Given the description of an element on the screen output the (x, y) to click on. 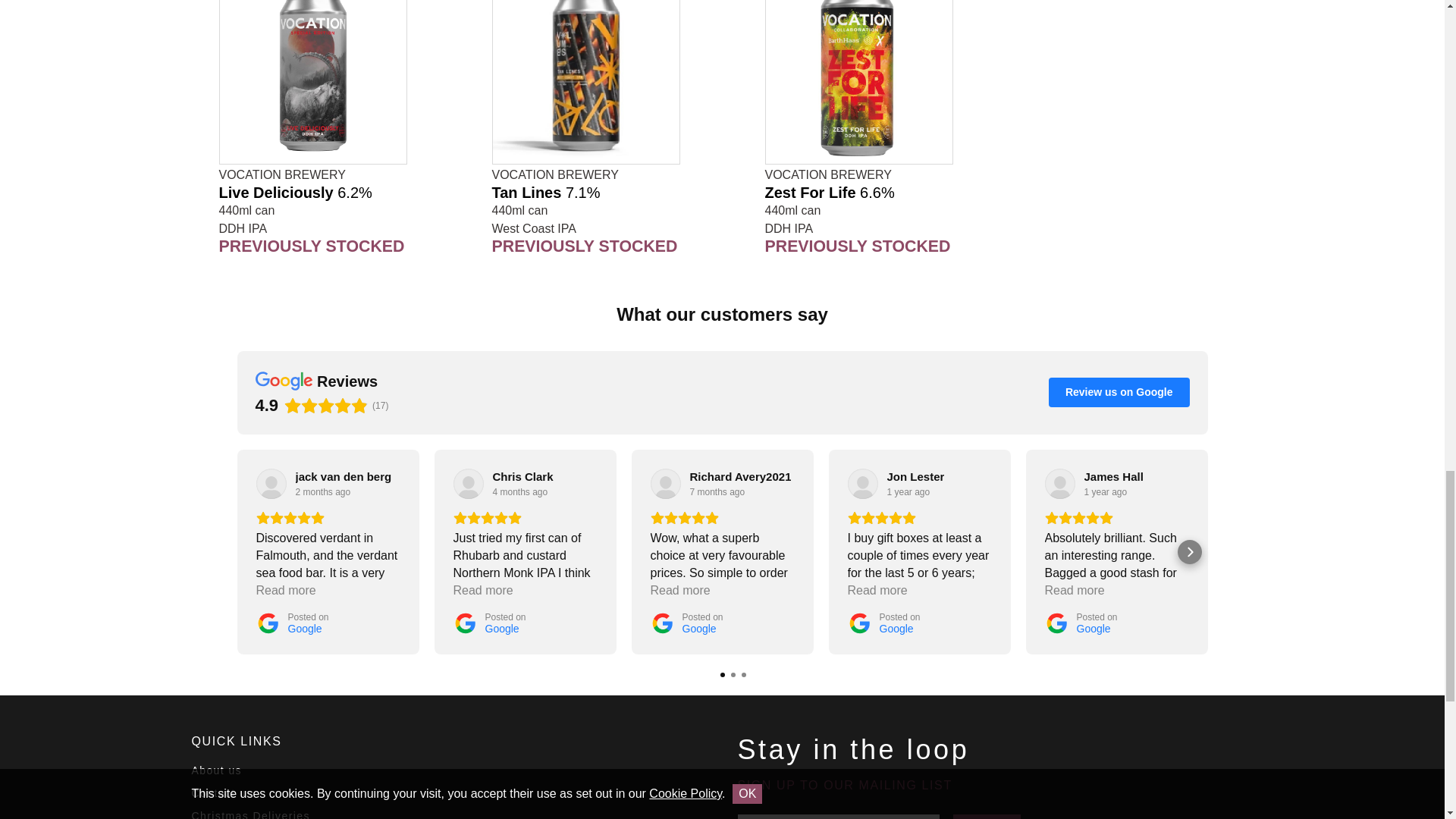
Review us on Google (1118, 391)
Sign-up (986, 816)
